Given the description of an element on the screen output the (x, y) to click on. 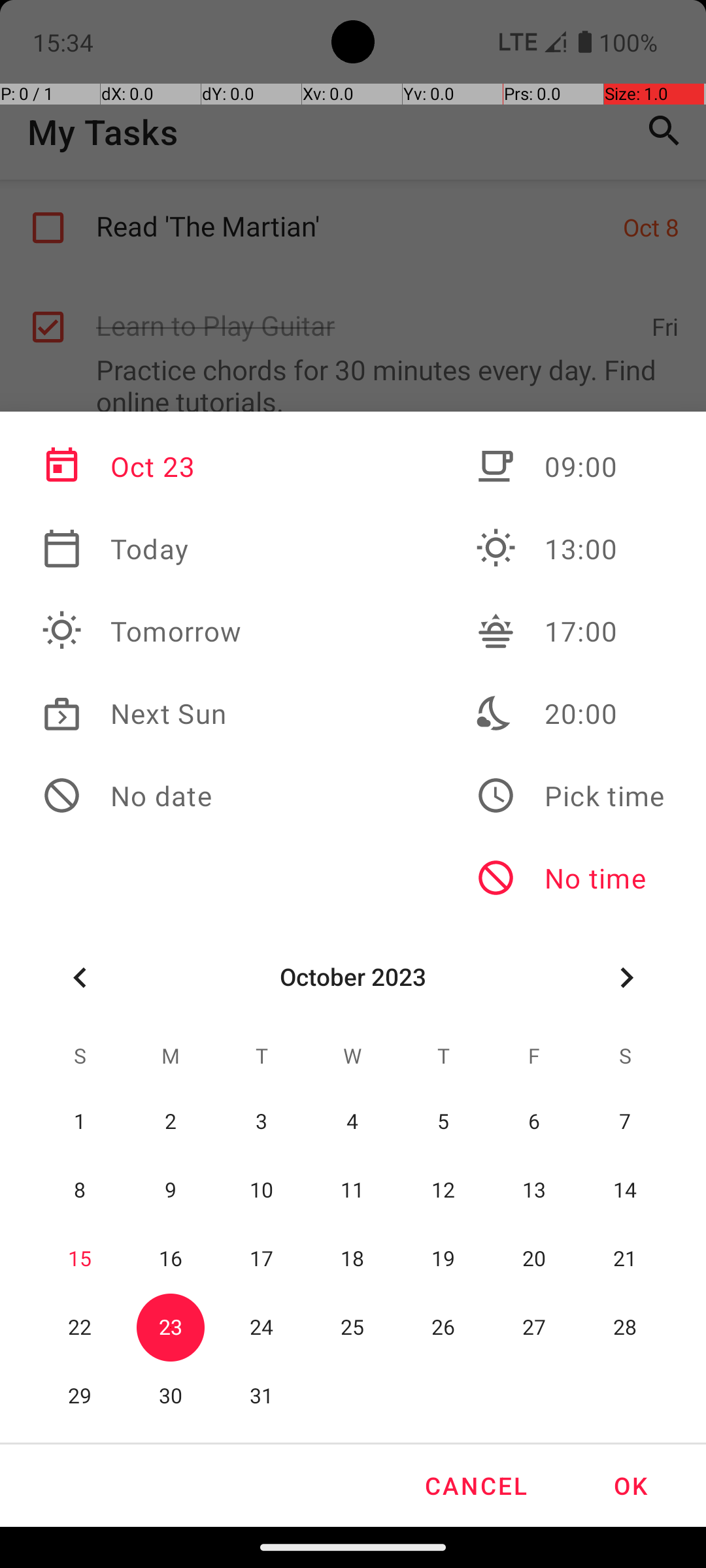
Oct 23 Element type: android.widget.CompoundButton (141, 466)
